Given the description of an element on the screen output the (x, y) to click on. 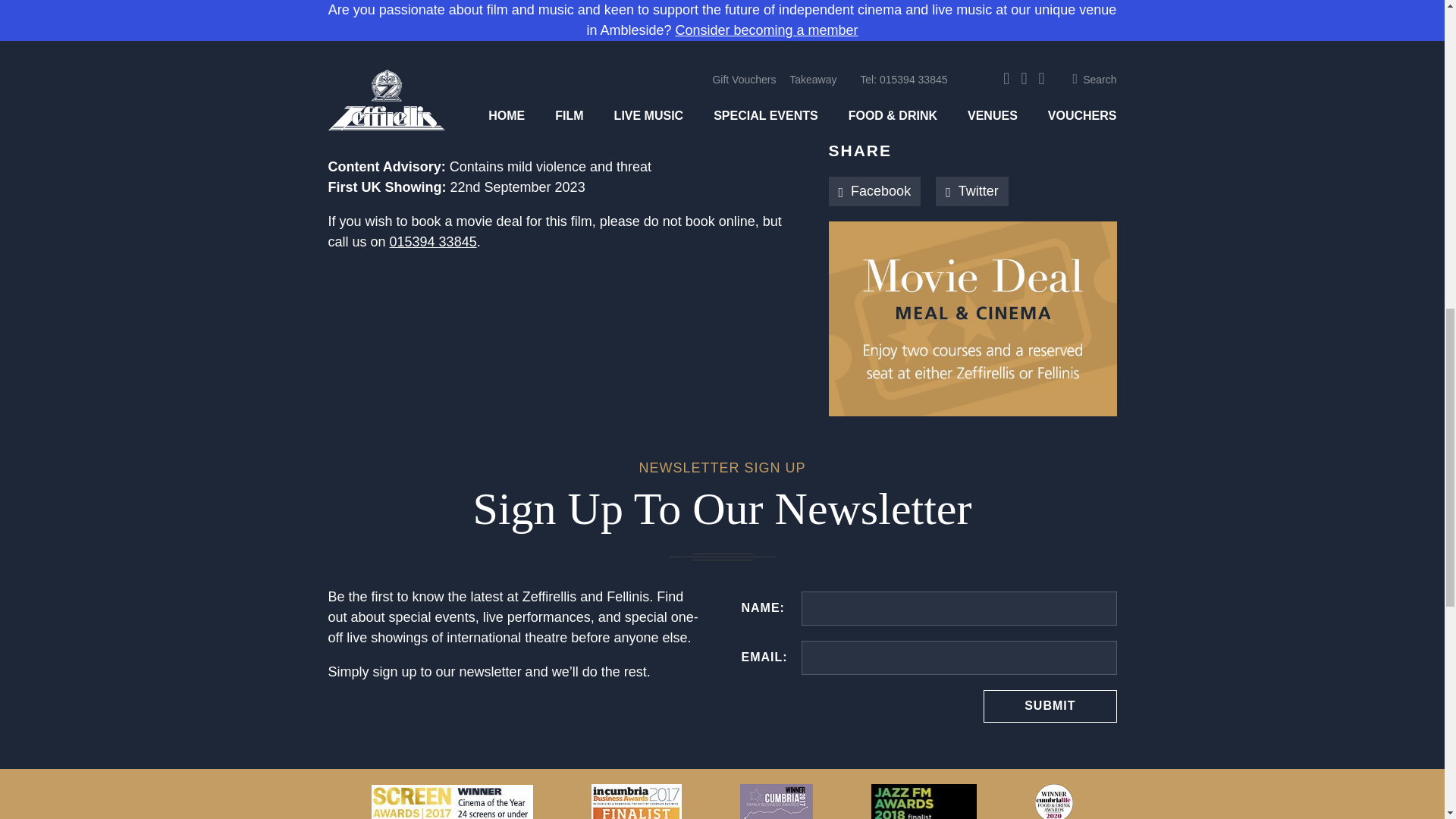
Movie Deal (684, 318)
Movie Deal (972, 318)
